Given the description of an element on the screen output the (x, y) to click on. 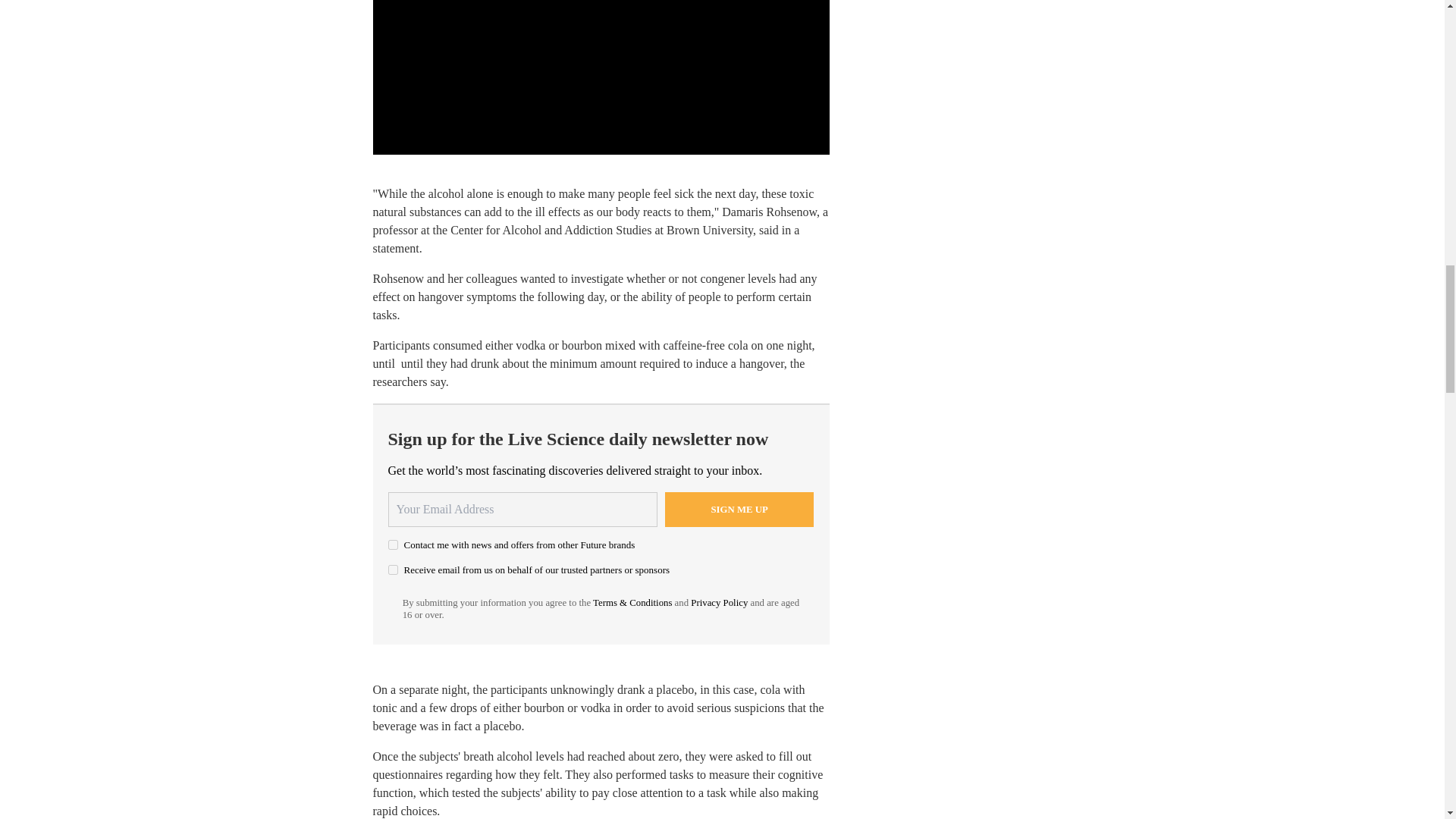
Sign me up (739, 509)
on (392, 544)
on (392, 569)
